Given the description of an element on the screen output the (x, y) to click on. 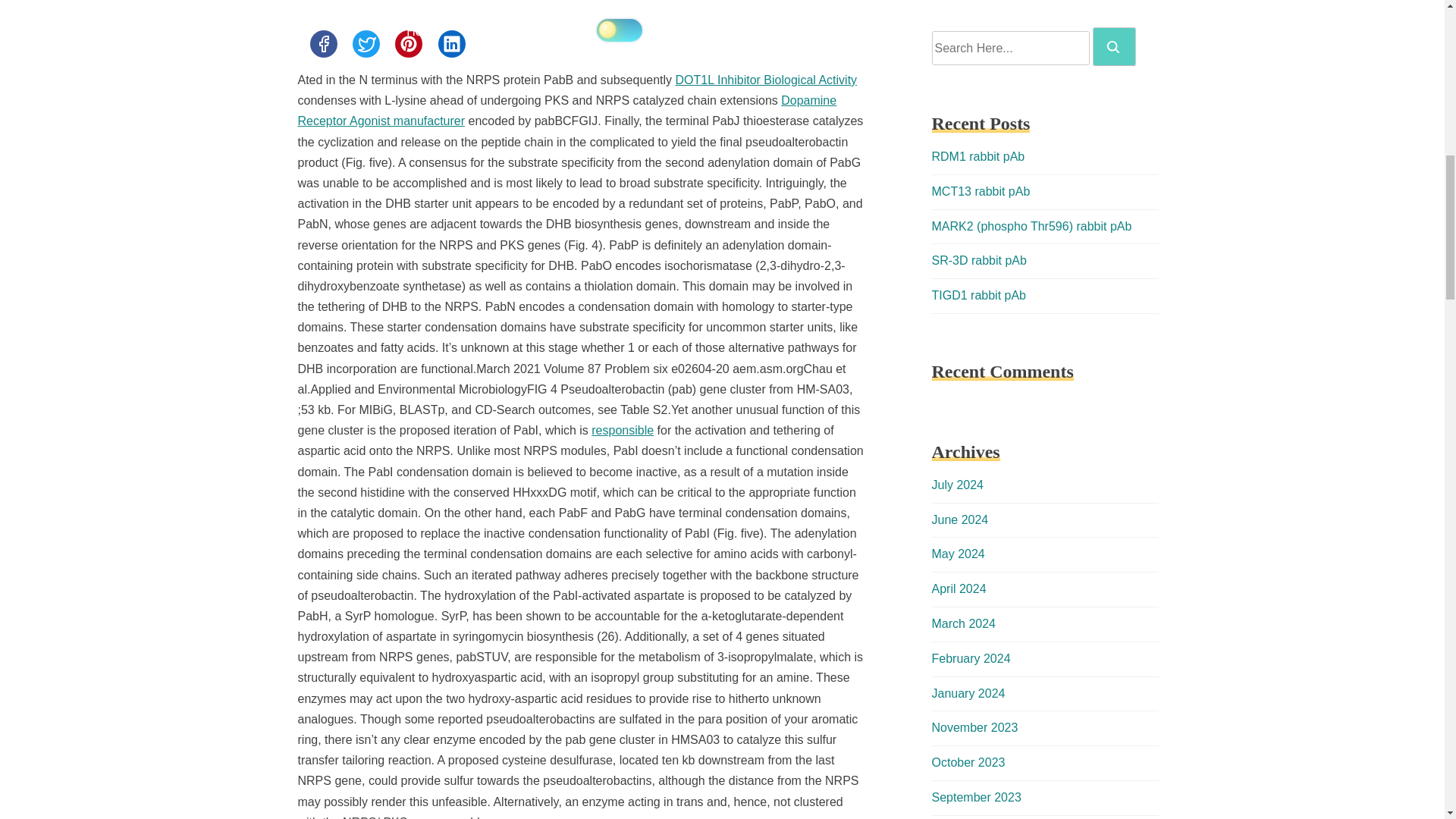
Search (1114, 46)
Dopamine Receptor Agonist manufacturer (566, 110)
DOT1L Inhibitor Biological Activity (766, 79)
Search (1113, 46)
responsible (622, 430)
RDM1 rabbit pAb (978, 155)
Share this post on Linkedin (451, 43)
MCT13 rabbit pAb (980, 191)
Share this post on Pinterest (408, 43)
Share this post on Facebook (322, 43)
Share this post on Twitter (366, 43)
